Given the description of an element on the screen output the (x, y) to click on. 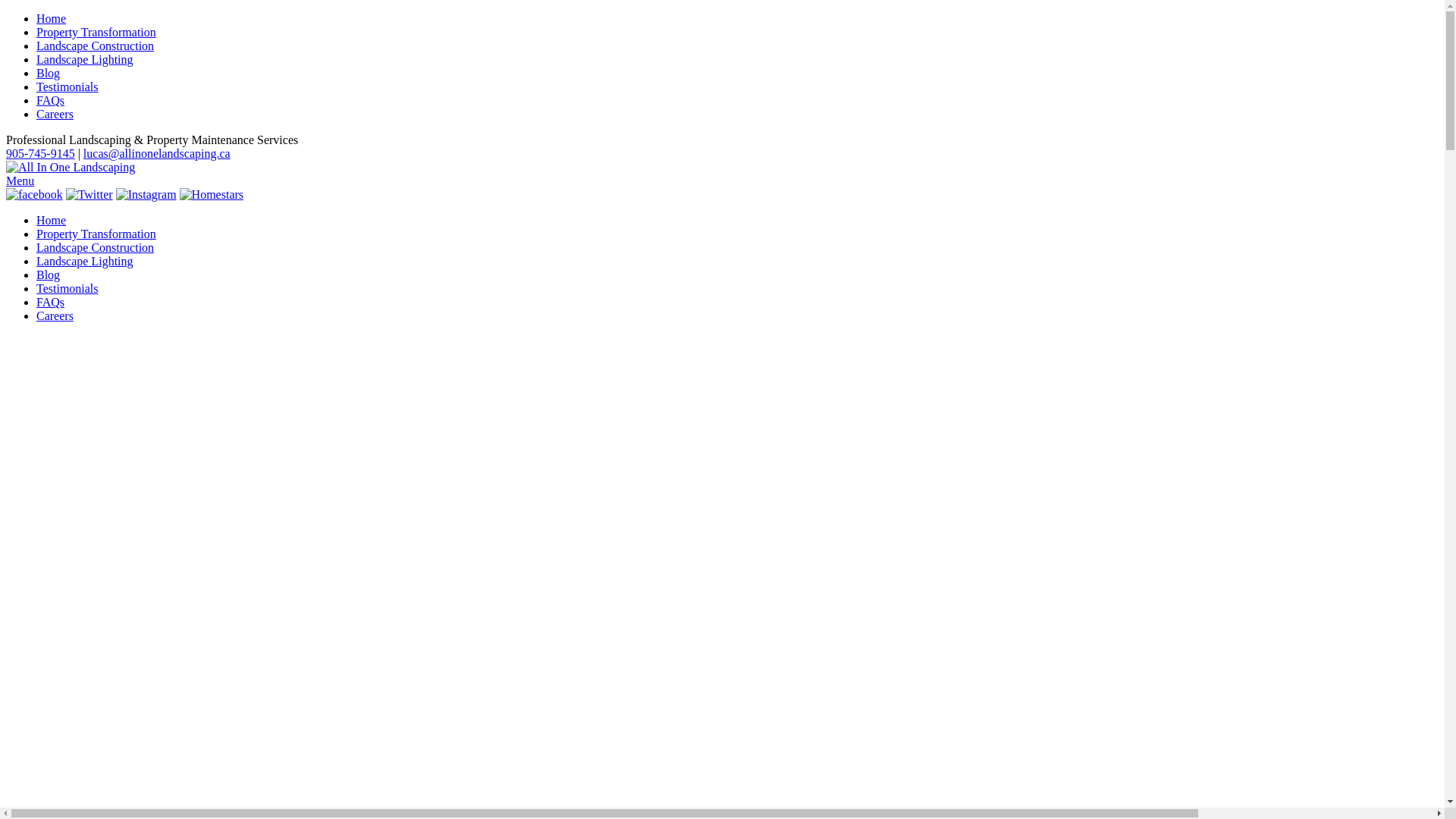
FAQs Element type: text (50, 301)
Menu Element type: text (20, 180)
Property Transformation Element type: text (96, 31)
Blog Element type: text (47, 274)
Landscape Construction Element type: text (94, 247)
Blog Element type: text (47, 72)
Landscape Lighting Element type: text (84, 59)
Testimonials Element type: text (67, 288)
Property Transformation Element type: text (96, 233)
Landscape Construction Element type: text (94, 45)
Careers Element type: text (54, 113)
lucas@allinonelandscaping.ca Element type: text (156, 153)
Landscape Lighting Element type: text (84, 260)
Testimonials Element type: text (67, 86)
Home Element type: text (50, 219)
Careers Element type: text (54, 315)
FAQs Element type: text (50, 100)
All In One Landscaping Element type: hover (70, 167)
905-745-9145 Element type: text (40, 153)
Home Element type: text (50, 18)
